Given the description of an element on the screen output the (x, y) to click on. 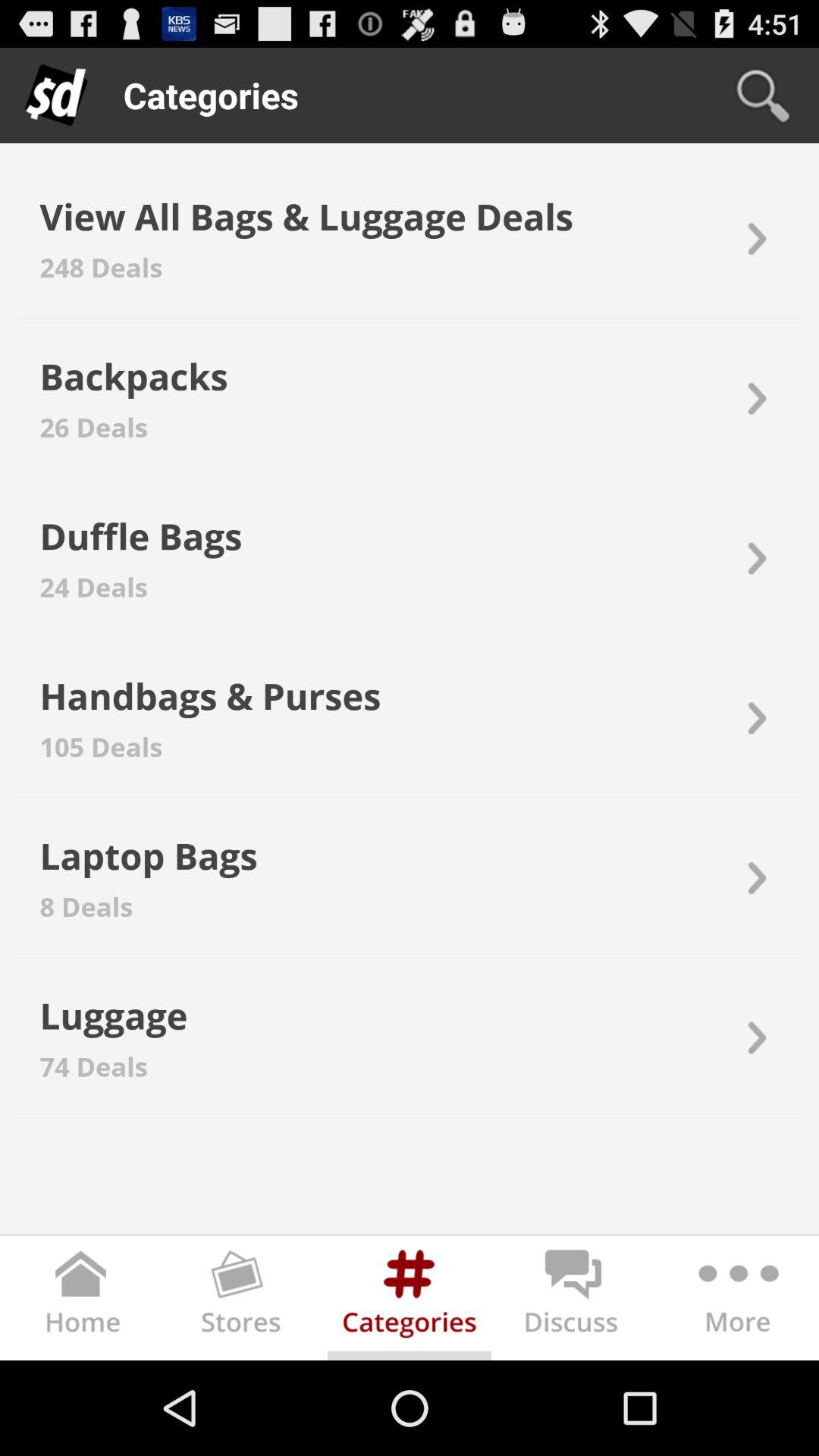
go home (81, 1301)
